Given the description of an element on the screen output the (x, y) to click on. 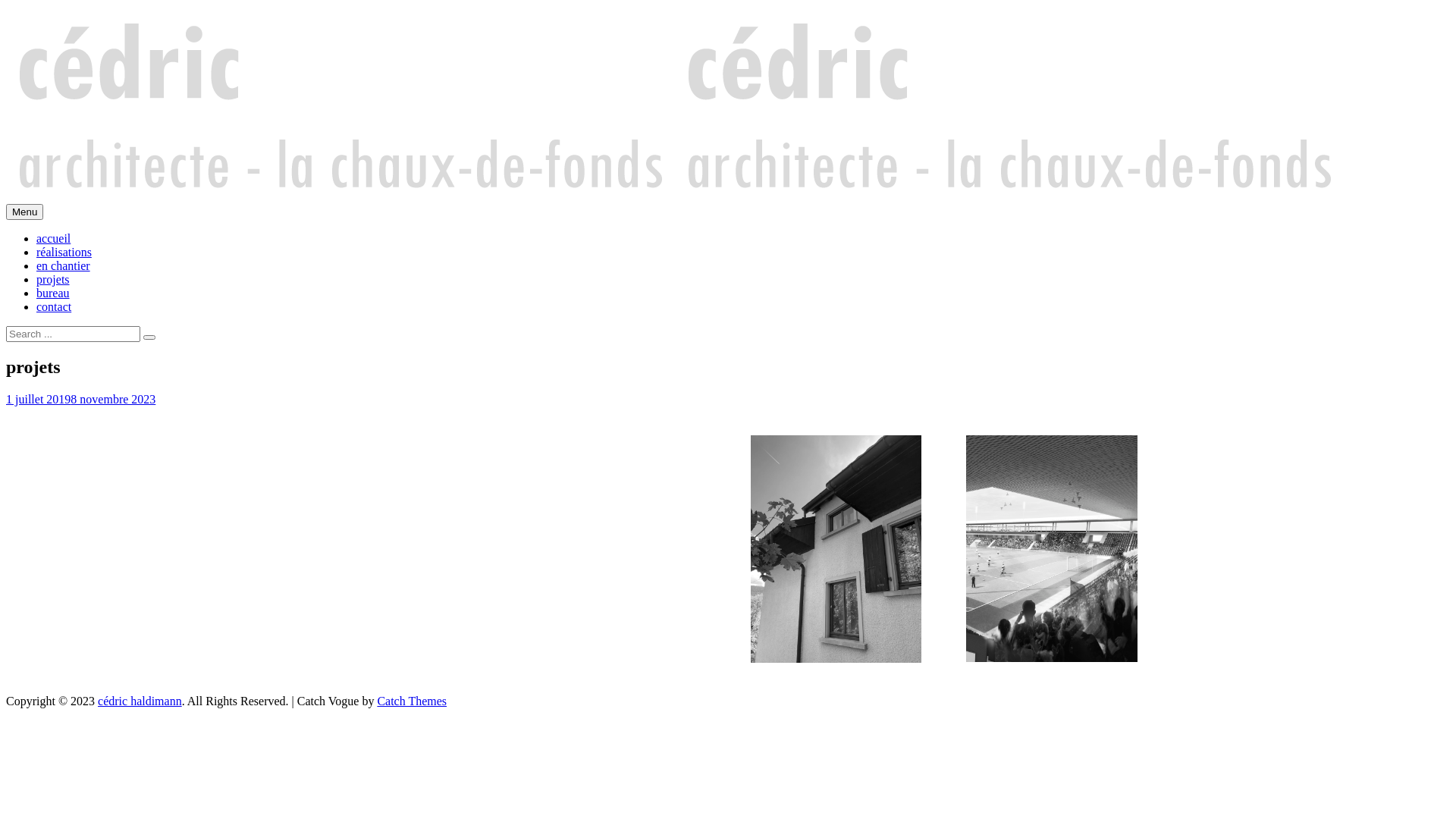
Search for: Element type: hover (73, 334)
michael.sterchi@bluewin.ch Element type: text (74, 398)
contact Element type: text (53, 306)
en chantier Element type: text (63, 265)
projets Element type: text (52, 279)
Catch Themes Element type: text (411, 700)
Menu Element type: text (24, 211)
Skip to content Element type: text (5, 5)
1 juillet 20198 novembre 2023 Element type: text (80, 398)
accueil Element type: text (53, 238)
bureau Element type: text (52, 292)
